Given the description of an element on the screen output the (x, y) to click on. 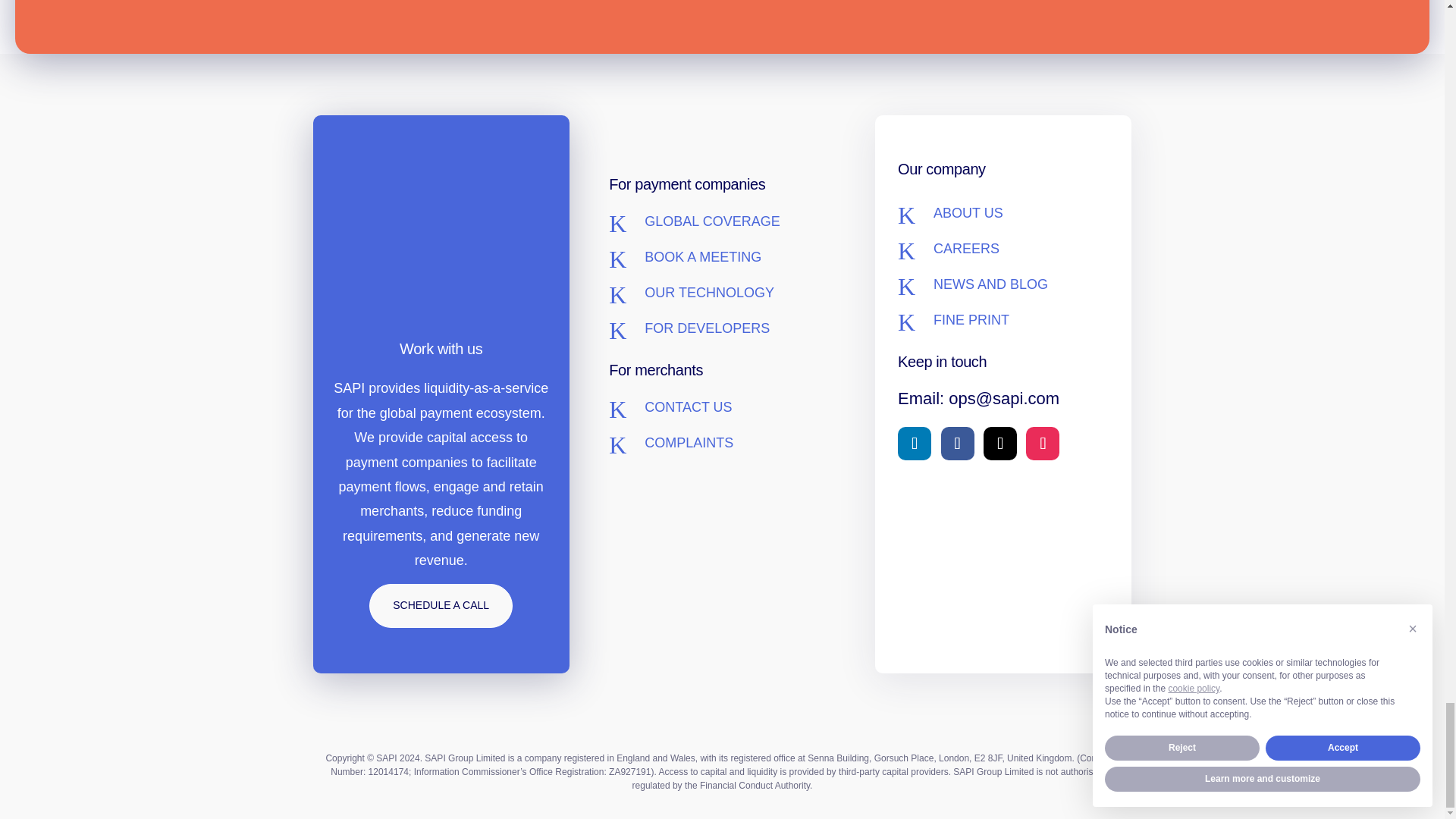
Follow on X (1000, 443)
Follow on LinkedIn (914, 443)
Follow on Instagram (1042, 443)
Follow on Facebook (957, 443)
